Given the description of an element on the screen output the (x, y) to click on. 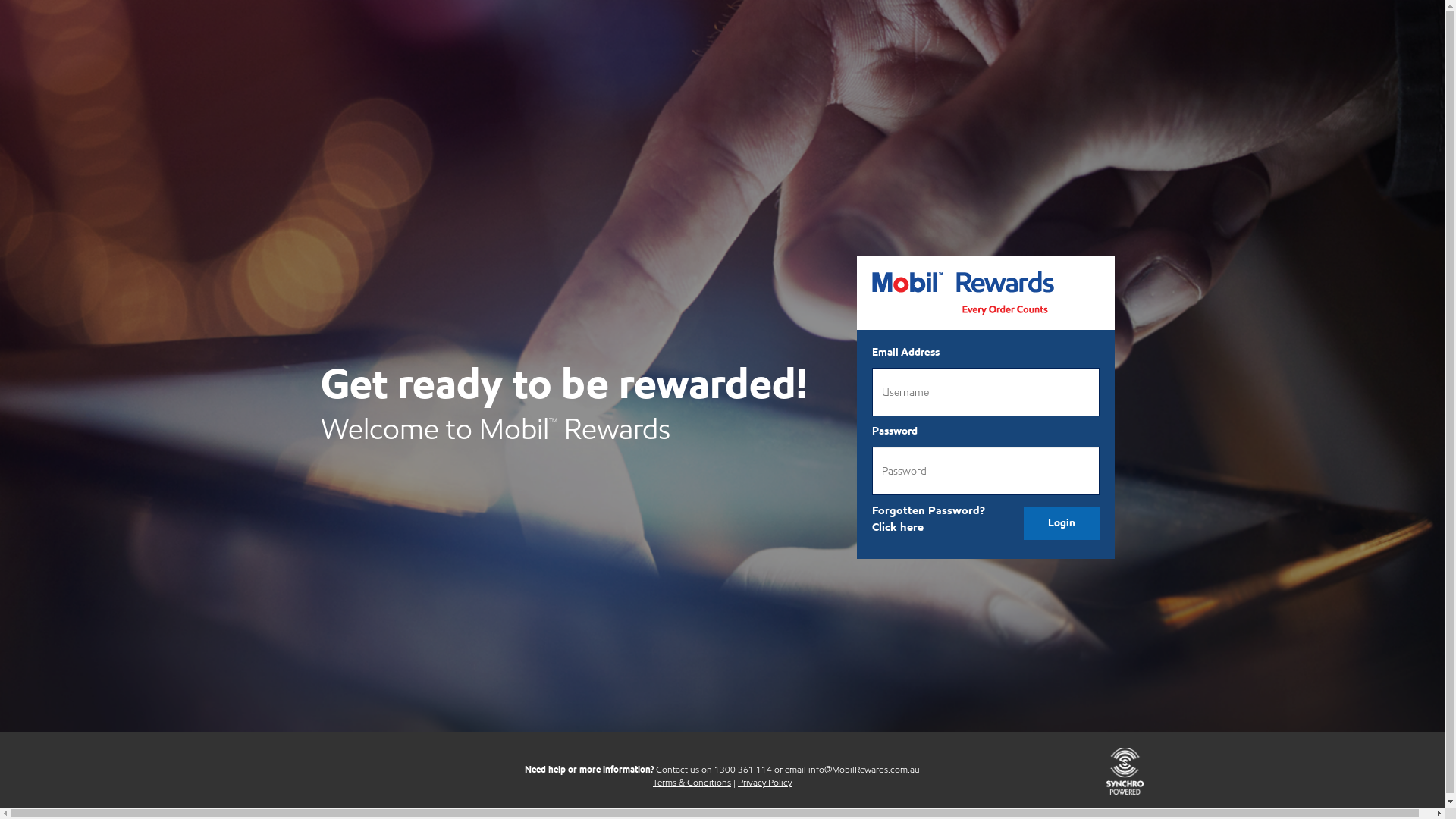
Click here Element type: text (897, 526)
Privacy Policy Element type: text (764, 781)
Login Element type: text (1061, 522)
Terms & Conditions Element type: text (691, 781)
Login Element type: hover (1061, 522)
Synchro Power Element type: hover (1124, 769)
